Given the description of an element on the screen output the (x, y) to click on. 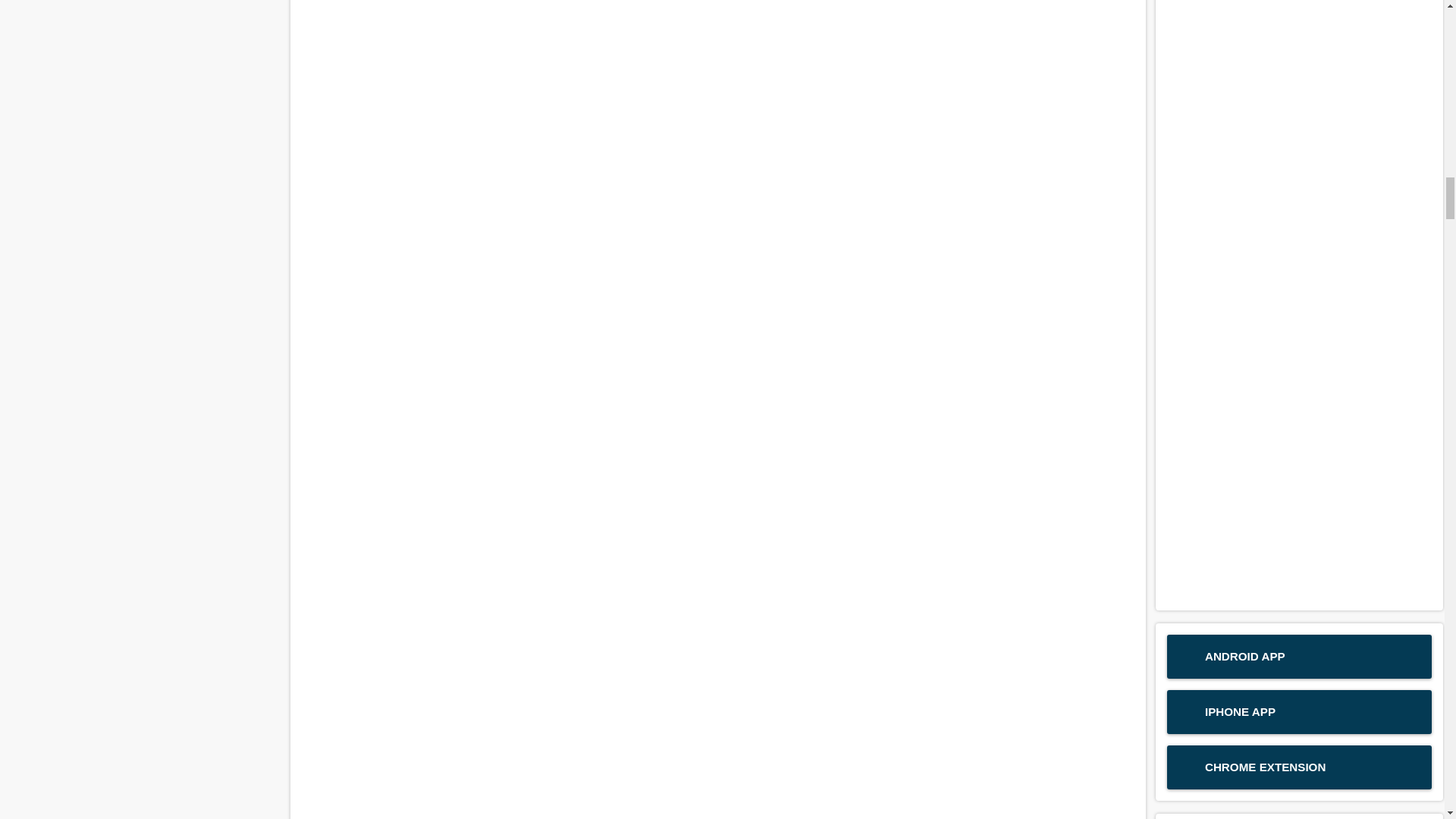
Learn Prepositions by Photos (717, 812)
